Given the description of an element on the screen output the (x, y) to click on. 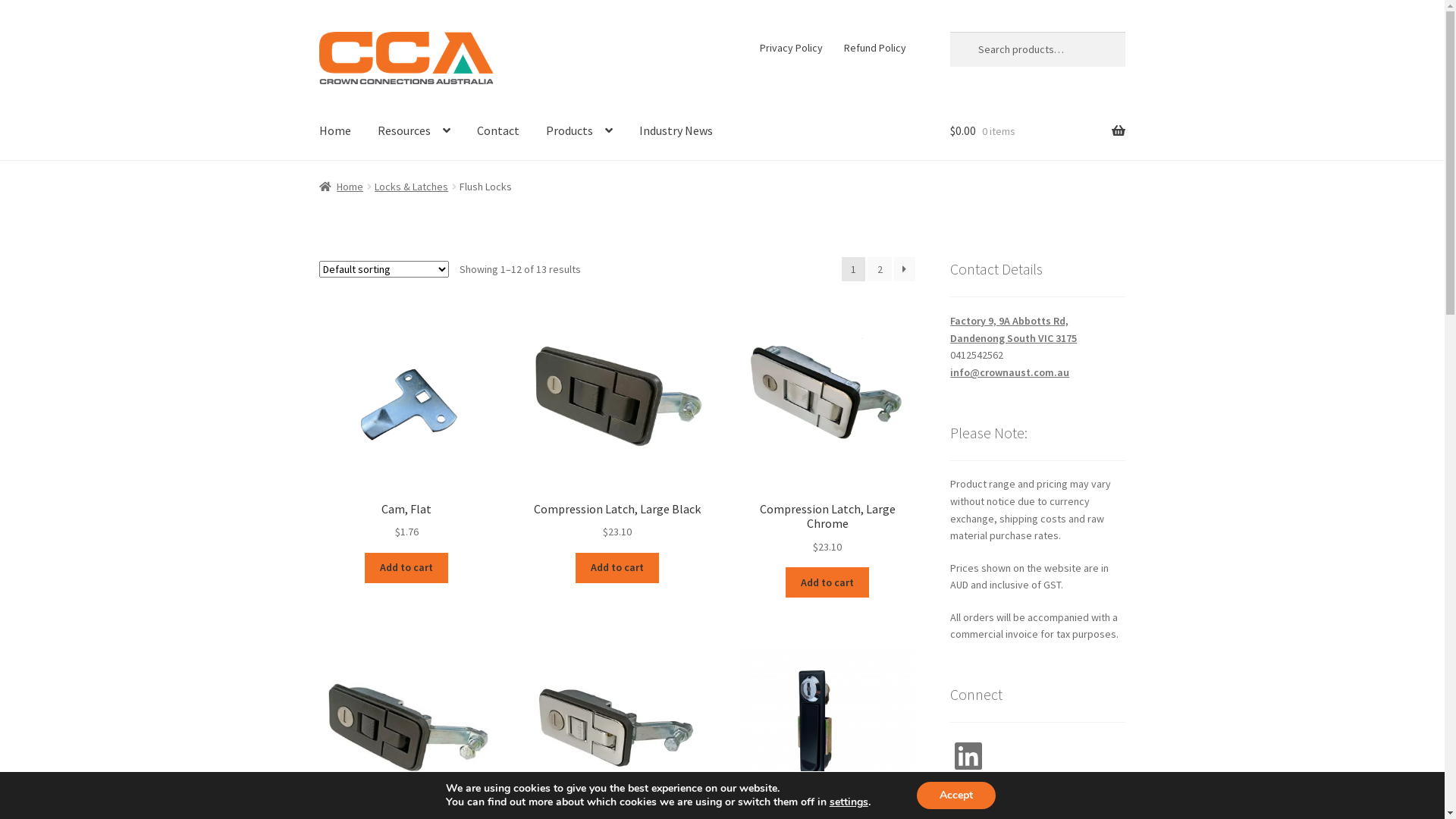
Privacy Policy Element type: text (791, 47)
Resources Element type: text (413, 130)
Add to cart Element type: text (616, 567)
Contact Element type: text (497, 130)
Skip to navigation Element type: text (318, 31)
Add to cart Element type: text (827, 582)
Search Element type: text (949, 31)
Refund Policy Element type: text (874, 47)
Add to cart Element type: text (406, 567)
2 Element type: text (879, 269)
Products Element type: text (578, 130)
settings Element type: text (848, 802)
Home Element type: text (341, 186)
Compression Latch, Large Black
$23.10 Element type: text (616, 424)
Cam, Flat
$1.76 Element type: text (406, 424)
LinkedIn Element type: text (968, 755)
Factory 9, 9A Abbotts Rd,
Dandenong South VIC 3175 Element type: text (1013, 329)
Industry News Element type: text (675, 130)
Home Element type: text (335, 130)
Locks & Latches Element type: text (411, 186)
$0.00 0 items Element type: text (1037, 130)
Accept Element type: text (955, 795)
Compression Latch, Large Chrome
$23.10 Element type: text (827, 432)
info@crownaust.com.au Element type: text (1009, 372)
